Given the description of an element on the screen output the (x, y) to click on. 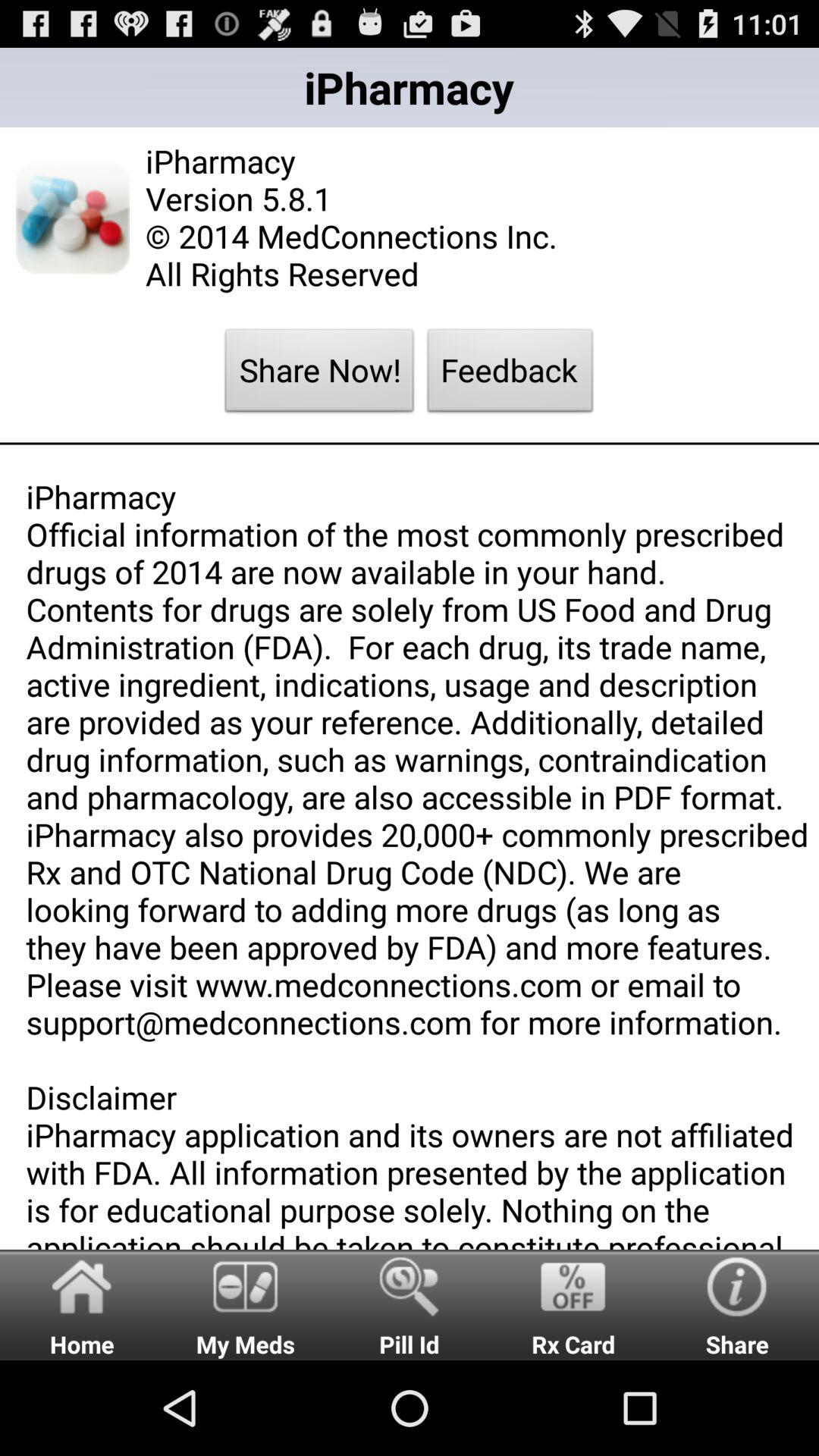
scroll to pill id (409, 1304)
